Given the description of an element on the screen output the (x, y) to click on. 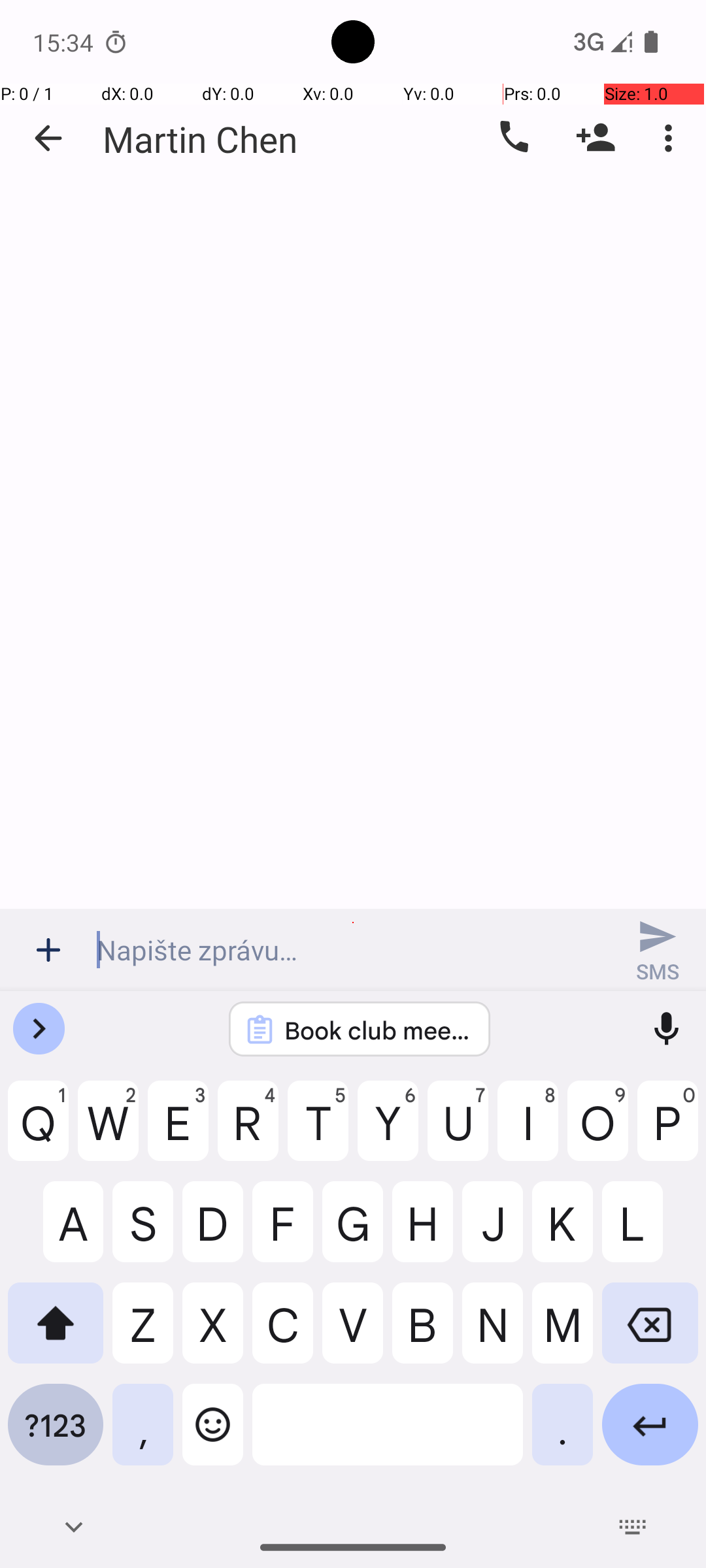
Zpět Element type: android.widget.ImageButton (48, 138)
Martin Chen Element type: android.widget.TextView (200, 138)
Vytočit číslo Element type: android.widget.Button (512, 137)
Přidat osobu Element type: android.widget.Button (595, 137)
Příloha Element type: android.widget.ImageView (48, 949)
Napište zprávu… Element type: android.widget.EditText (352, 949)
